Given the description of an element on the screen output the (x, y) to click on. 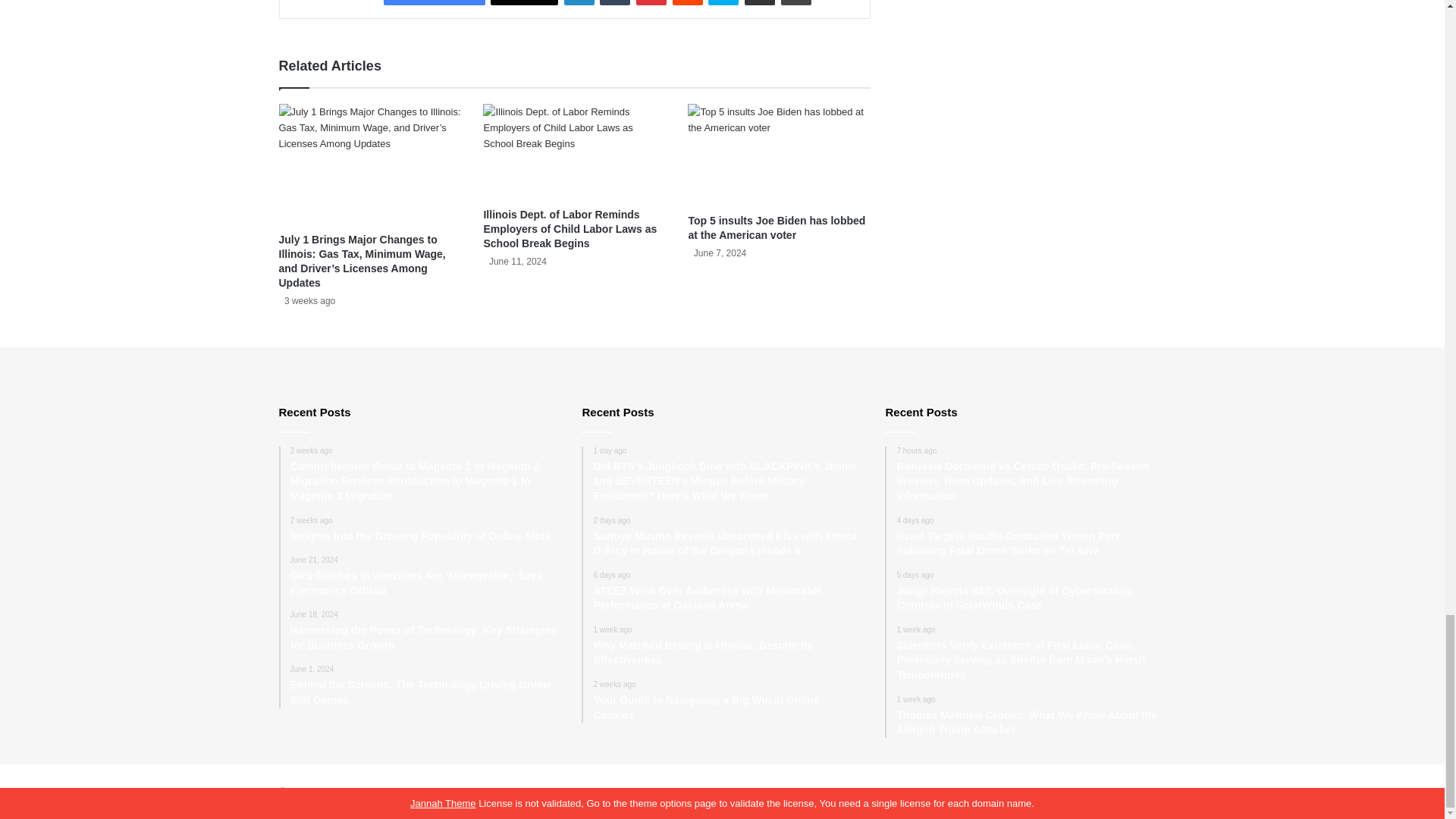
X (523, 2)
Facebook (434, 2)
LinkedIn (579, 2)
Reddit (687, 2)
Pinterest (651, 2)
Facebook (434, 2)
Tumblr (614, 2)
Skype (722, 2)
